Given the description of an element on the screen output the (x, y) to click on. 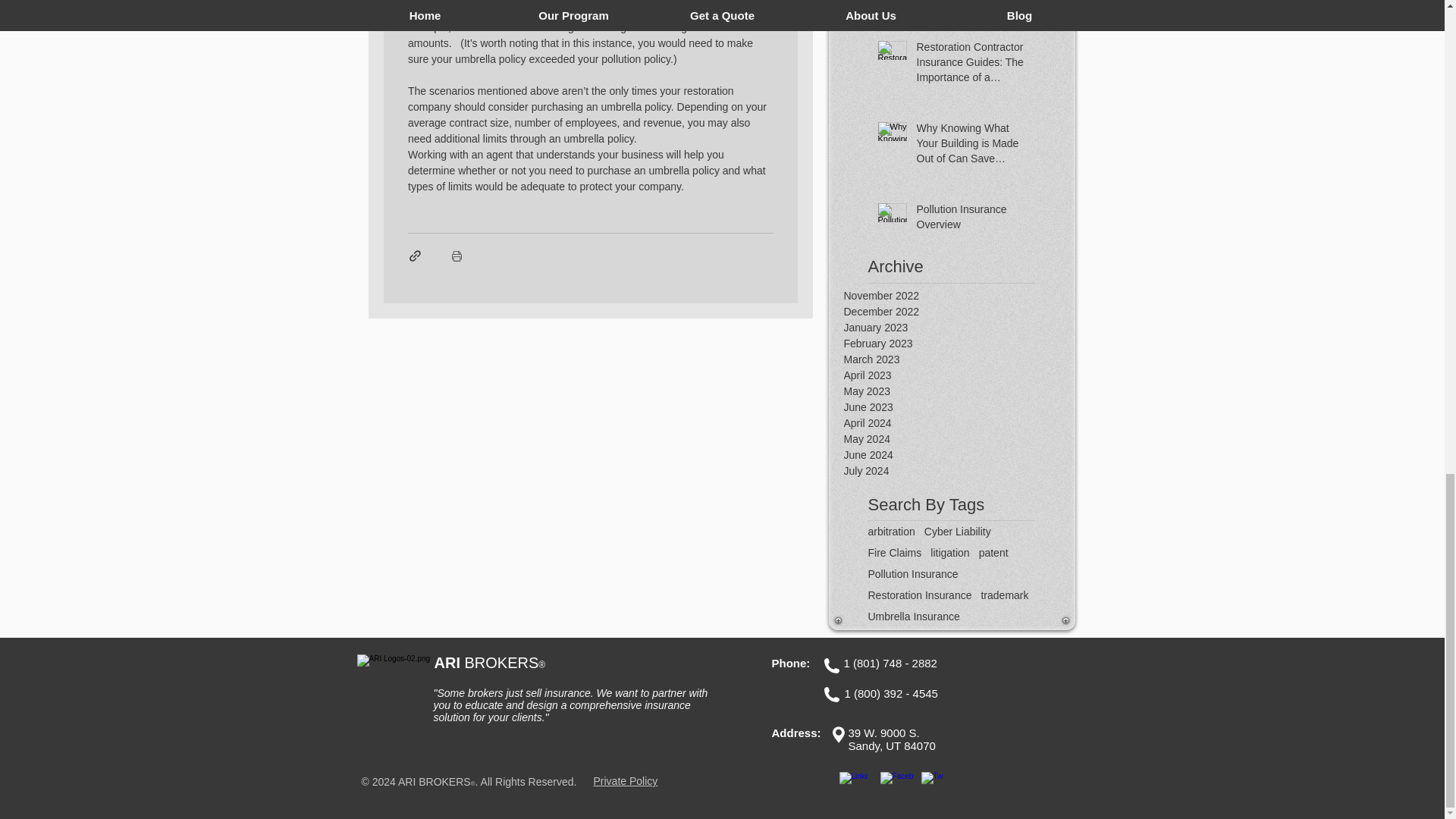
Fire Claims (894, 552)
April 2024 (958, 423)
Pollution Insurance Overview (970, 220)
May 2023 (958, 391)
January 2023 (958, 327)
March 2023 (958, 359)
July 2024 (958, 471)
November 2022 (958, 295)
December 2022 (958, 311)
May 2024 (958, 439)
June 2023 (958, 407)
arbitration (890, 531)
Cyber Liability (957, 531)
